Given the description of an element on the screen output the (x, y) to click on. 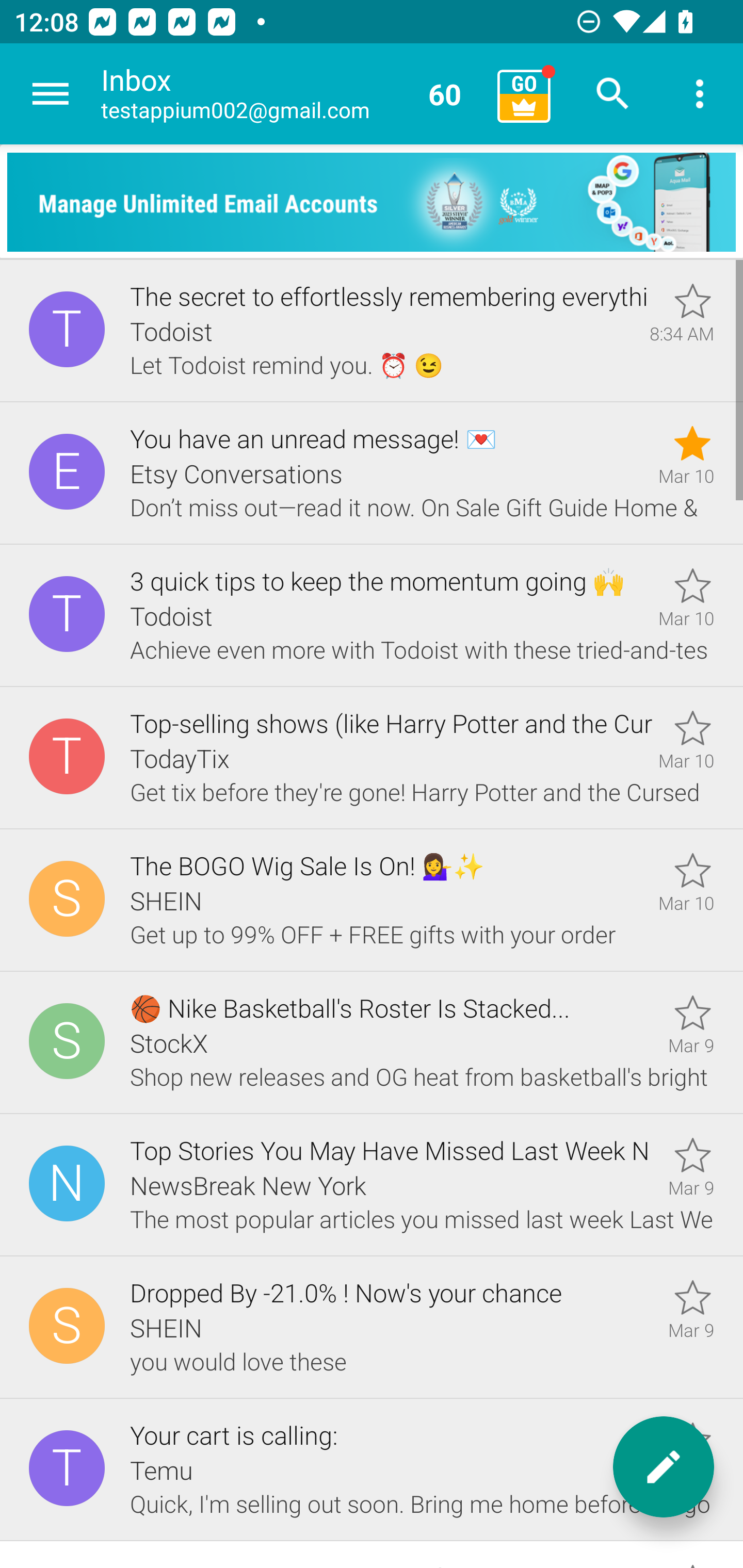
Navigate up (50, 93)
Inbox testappium002@gmail.com 60 (291, 93)
Search (612, 93)
More options (699, 93)
New message (663, 1466)
